Given the description of an element on the screen output the (x, y) to click on. 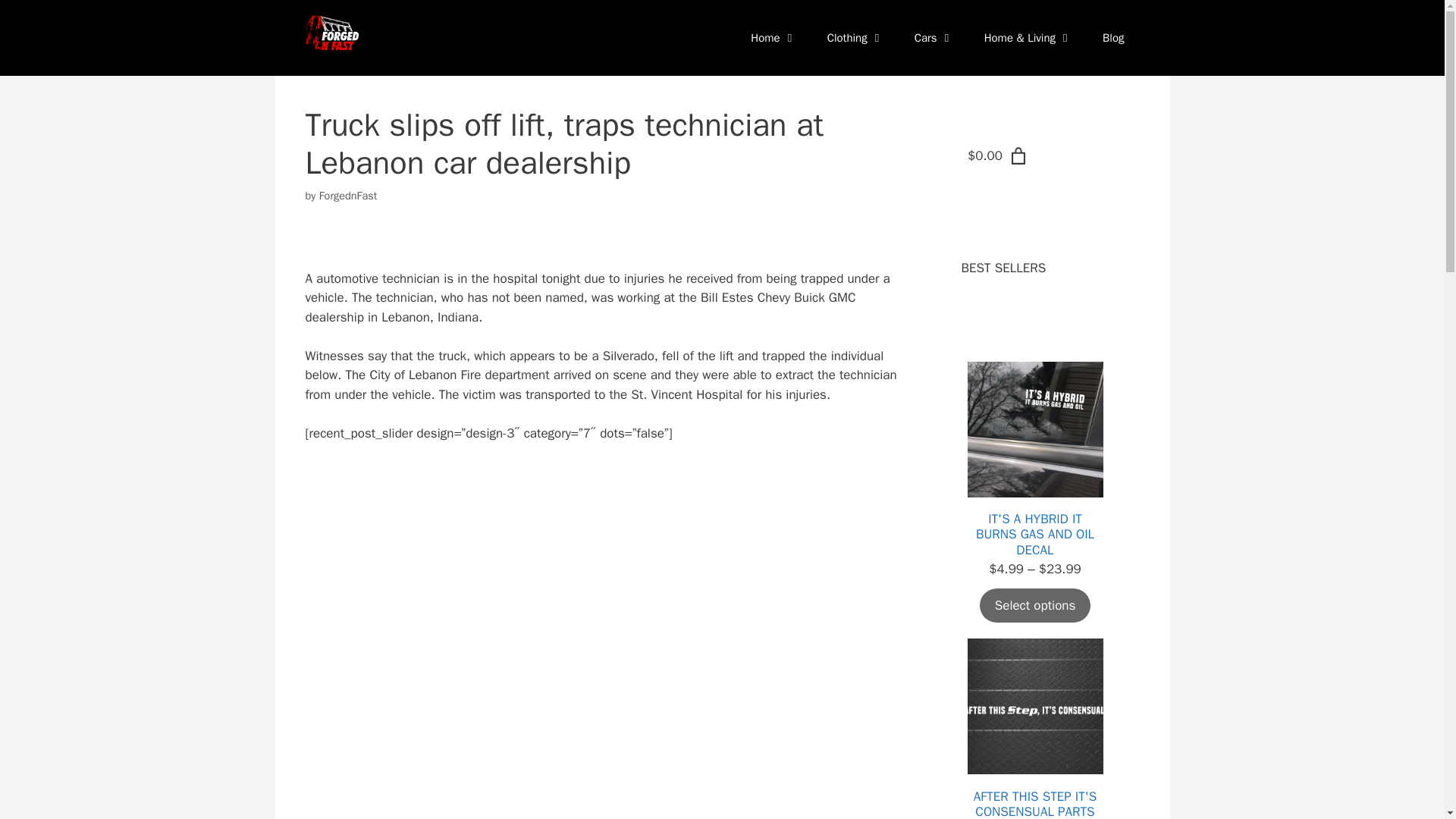
Home (772, 37)
Cars (934, 37)
Clothing (855, 37)
Blog (1112, 37)
ForgednFast (347, 195)
View all posts by ForgednFast (347, 195)
